Given the description of an element on the screen output the (x, y) to click on. 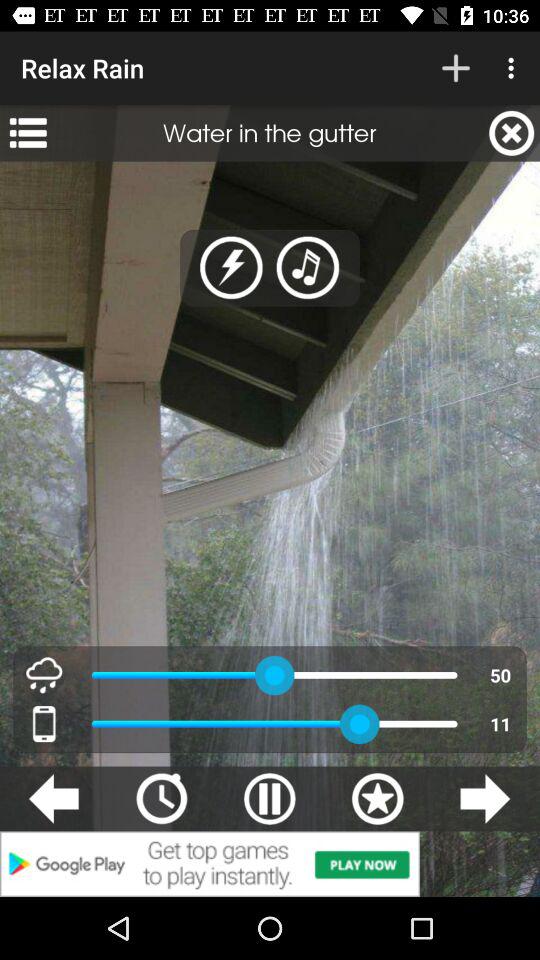
tap the item next to relax rain (455, 67)
